Given the description of an element on the screen output the (x, y) to click on. 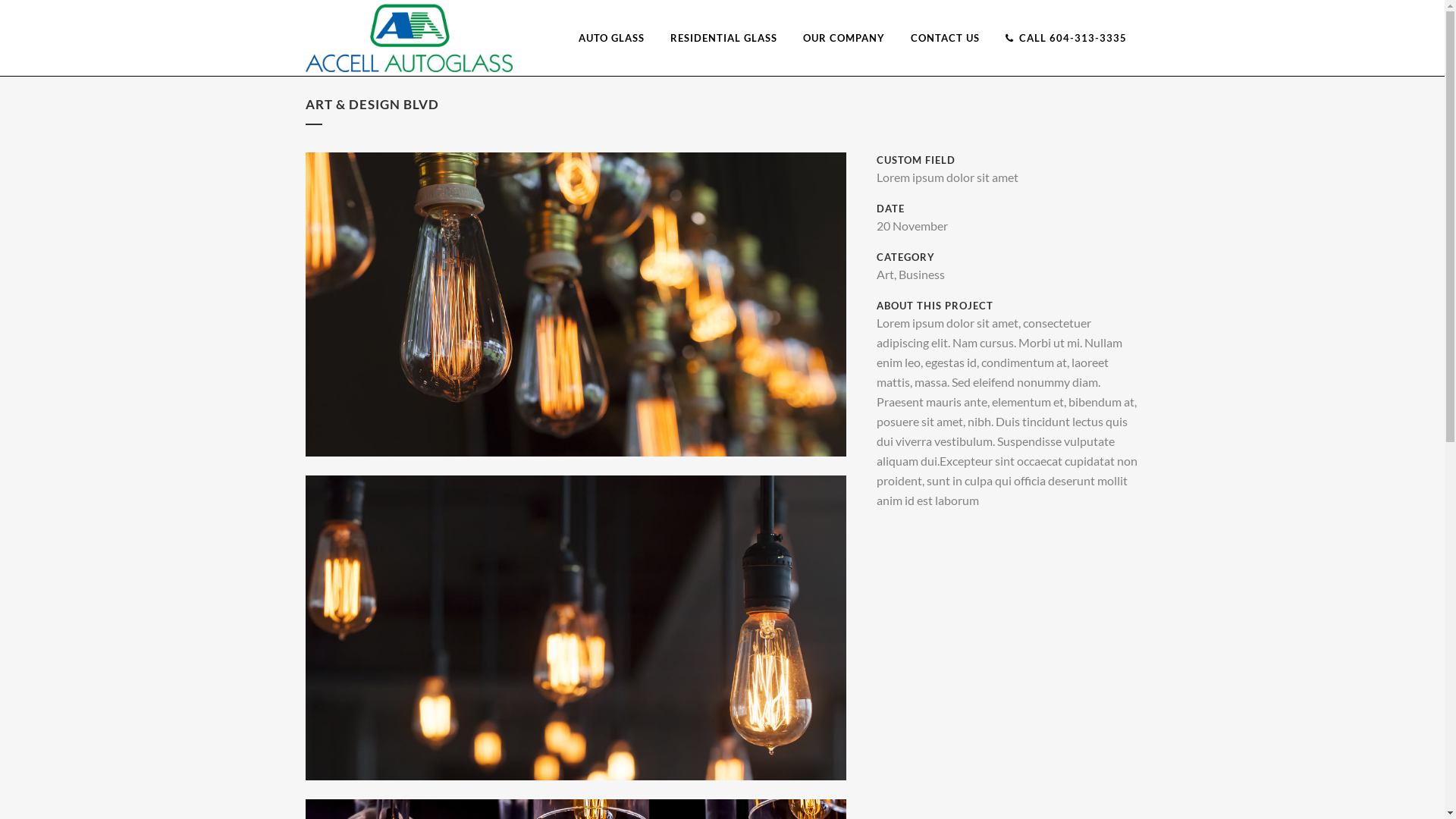
CONTACT US Element type: text (944, 37)
CALL 604-313-3335 Element type: text (1065, 37)
RESIDENTIAL GLASS Element type: text (722, 37)
AUTO GLASS Element type: text (611, 37)
OUR COMPANY Element type: text (843, 37)
